Given the description of an element on the screen output the (x, y) to click on. 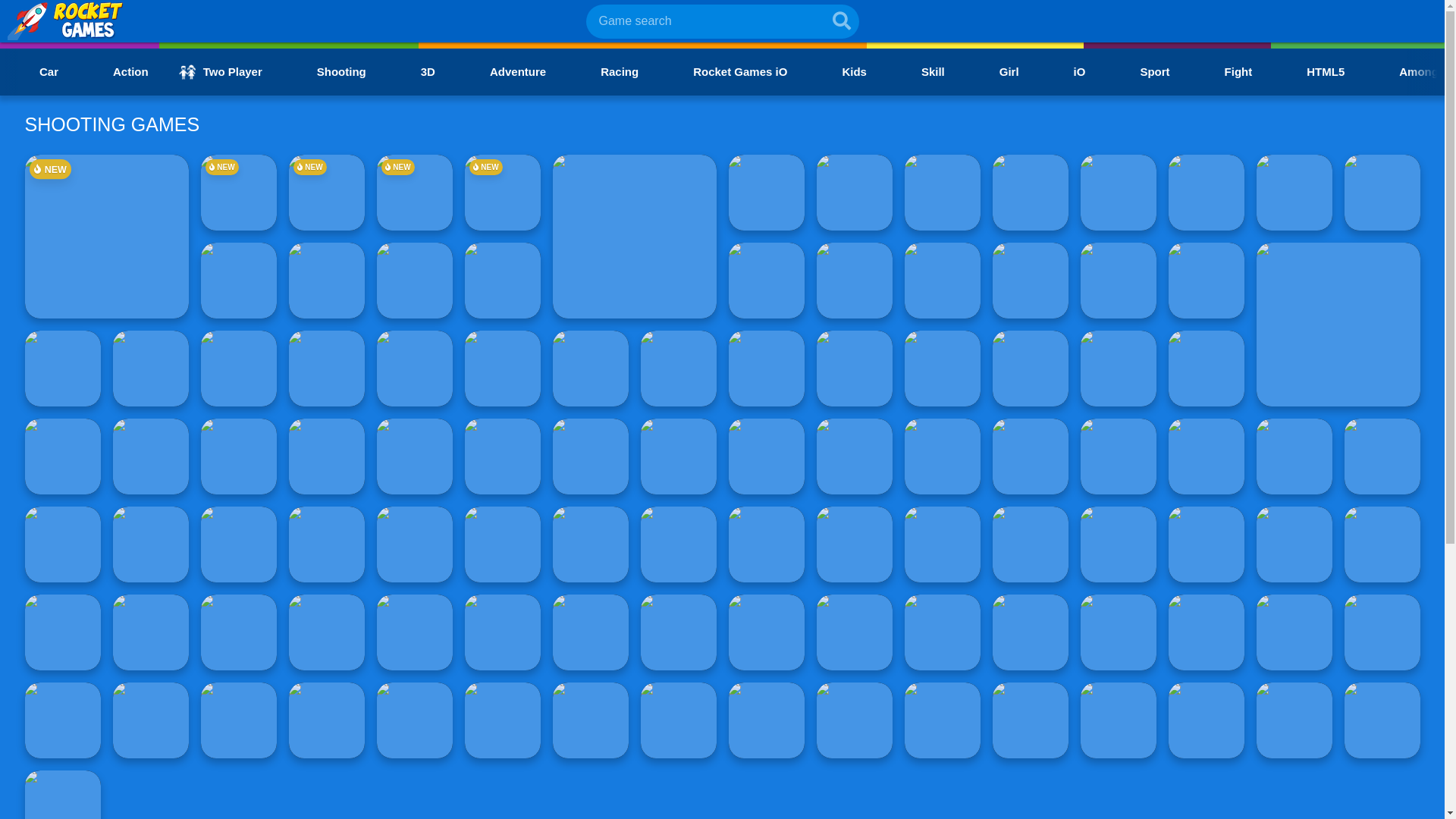
Shooting (329, 71)
Shooting Games (329, 71)
Action (118, 71)
Fight Games (1226, 71)
Kids (842, 71)
3D (415, 71)
HTML5 Games (1312, 71)
HTML5 (1312, 71)
Car Games (37, 71)
iO (1066, 71)
